Given the description of an element on the screen output the (x, y) to click on. 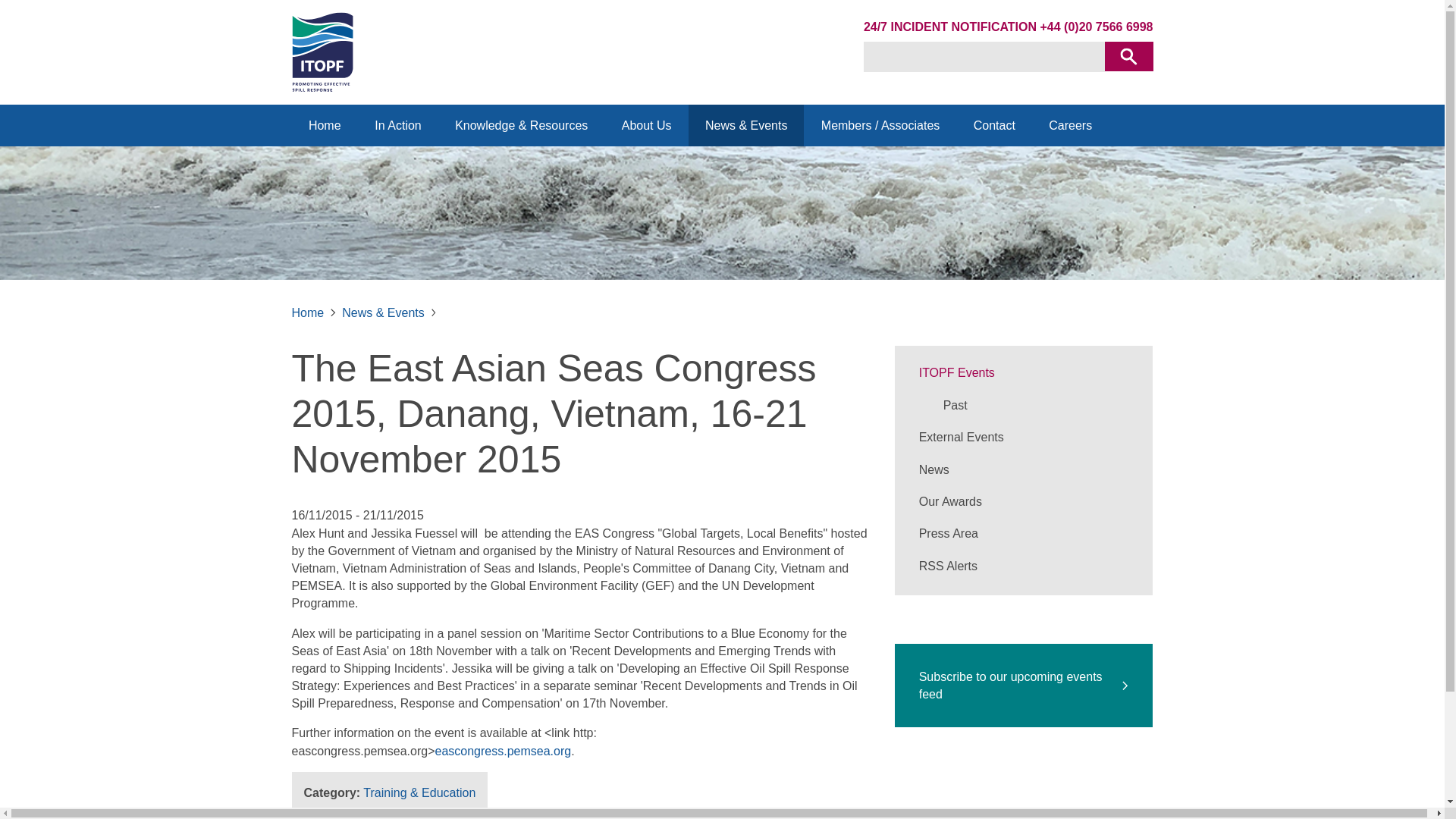
In Action (398, 125)
Home (323, 125)
Home (323, 125)
In Action (398, 125)
Search (1128, 56)
About Us (645, 125)
